Given the description of an element on the screen output the (x, y) to click on. 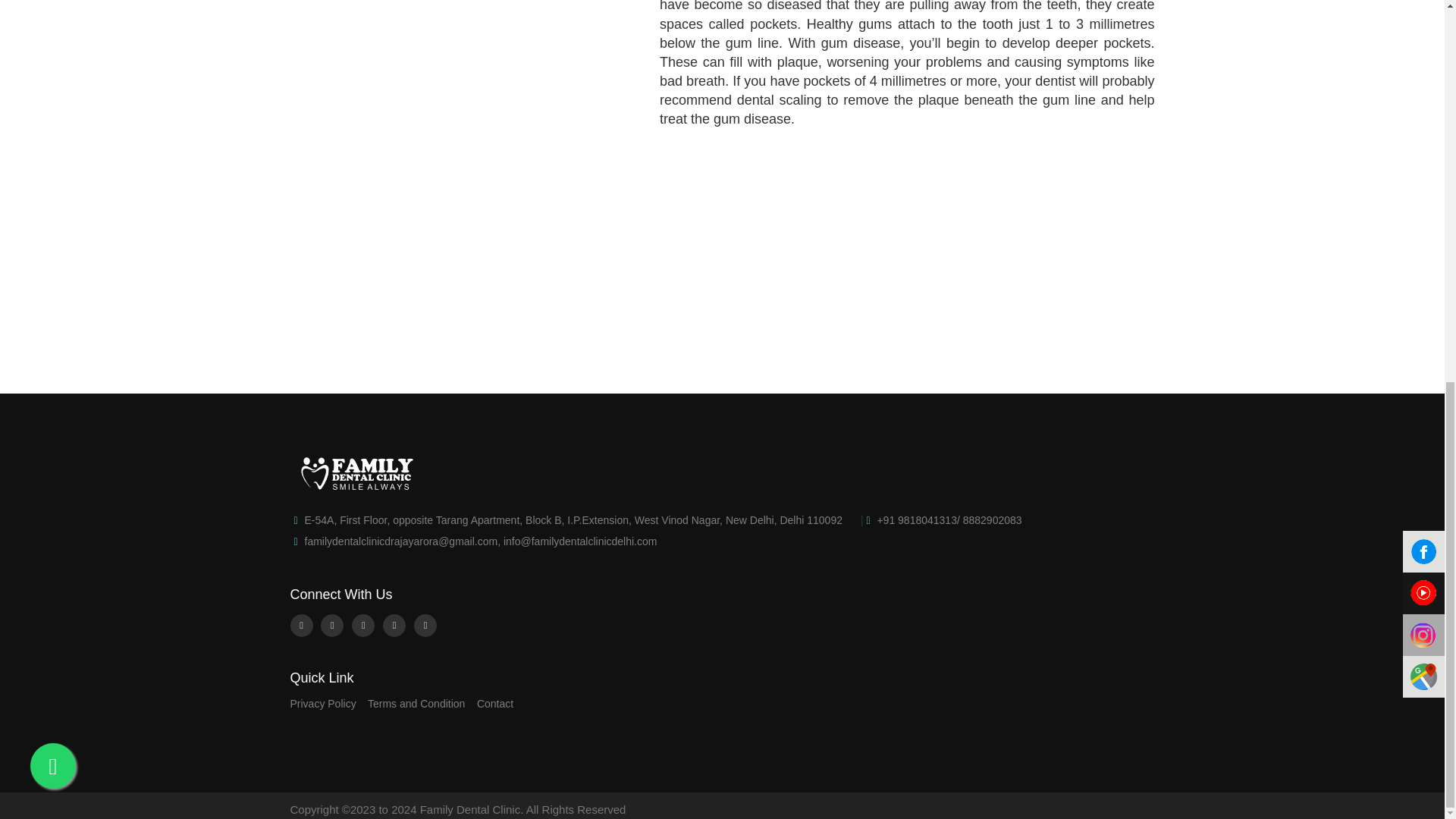
Send (944, 356)
